Given the description of an element on the screen output the (x, y) to click on. 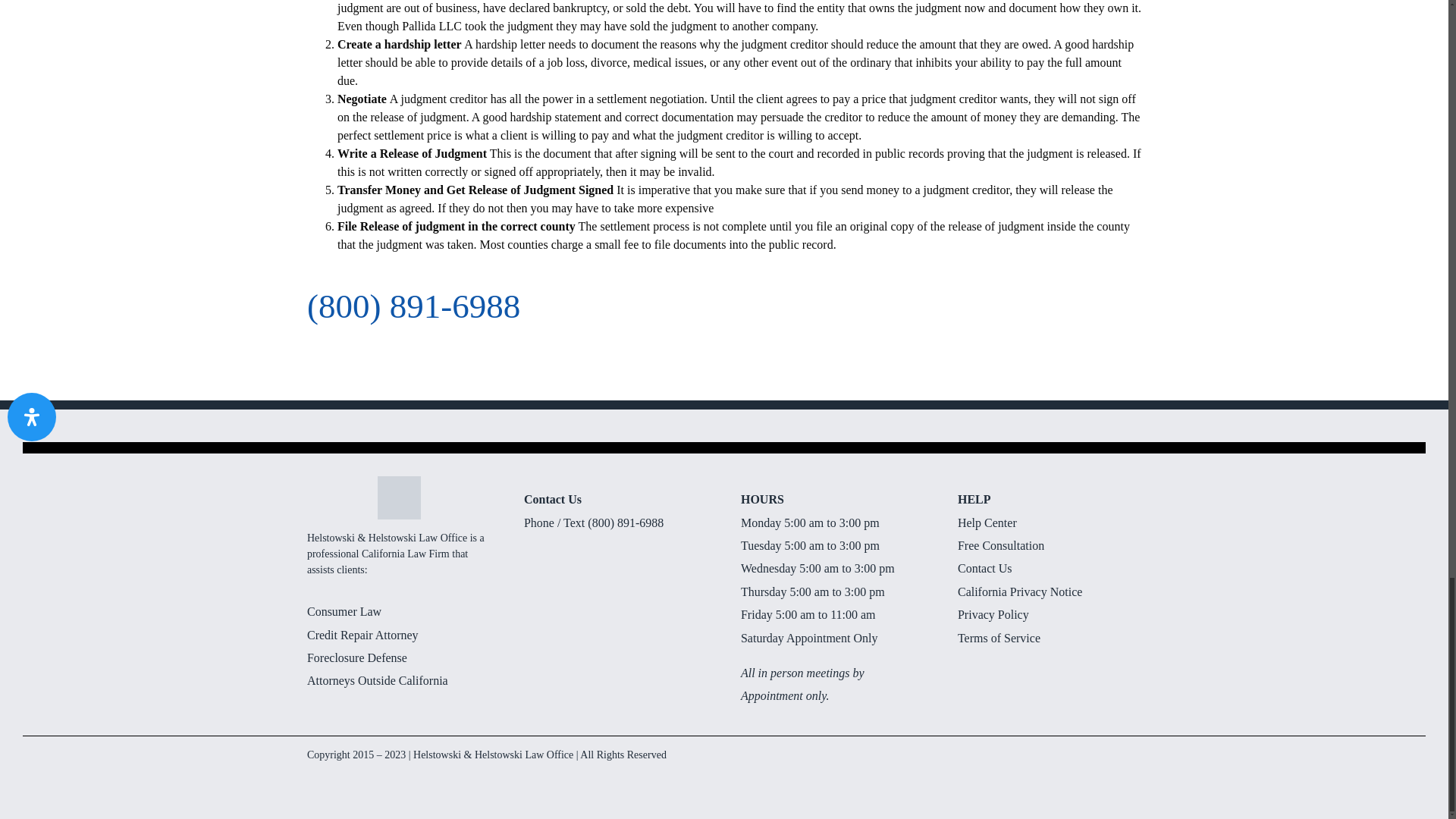
Bakeman Law Firm Logo (398, 497)
